Given the description of an element on the screen output the (x, y) to click on. 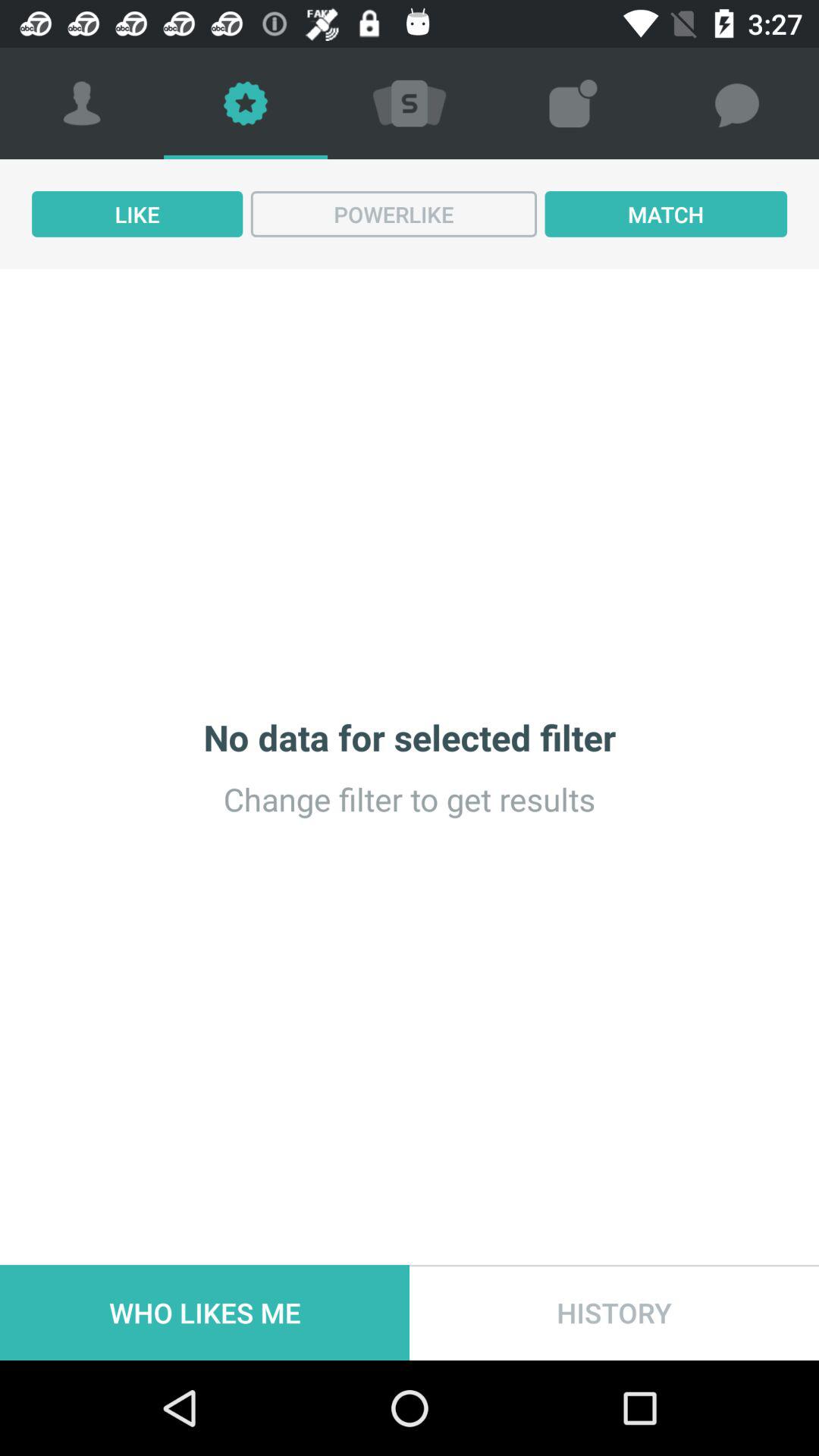
launch the icon next to who likes me icon (614, 1312)
